Given the description of an element on the screen output the (x, y) to click on. 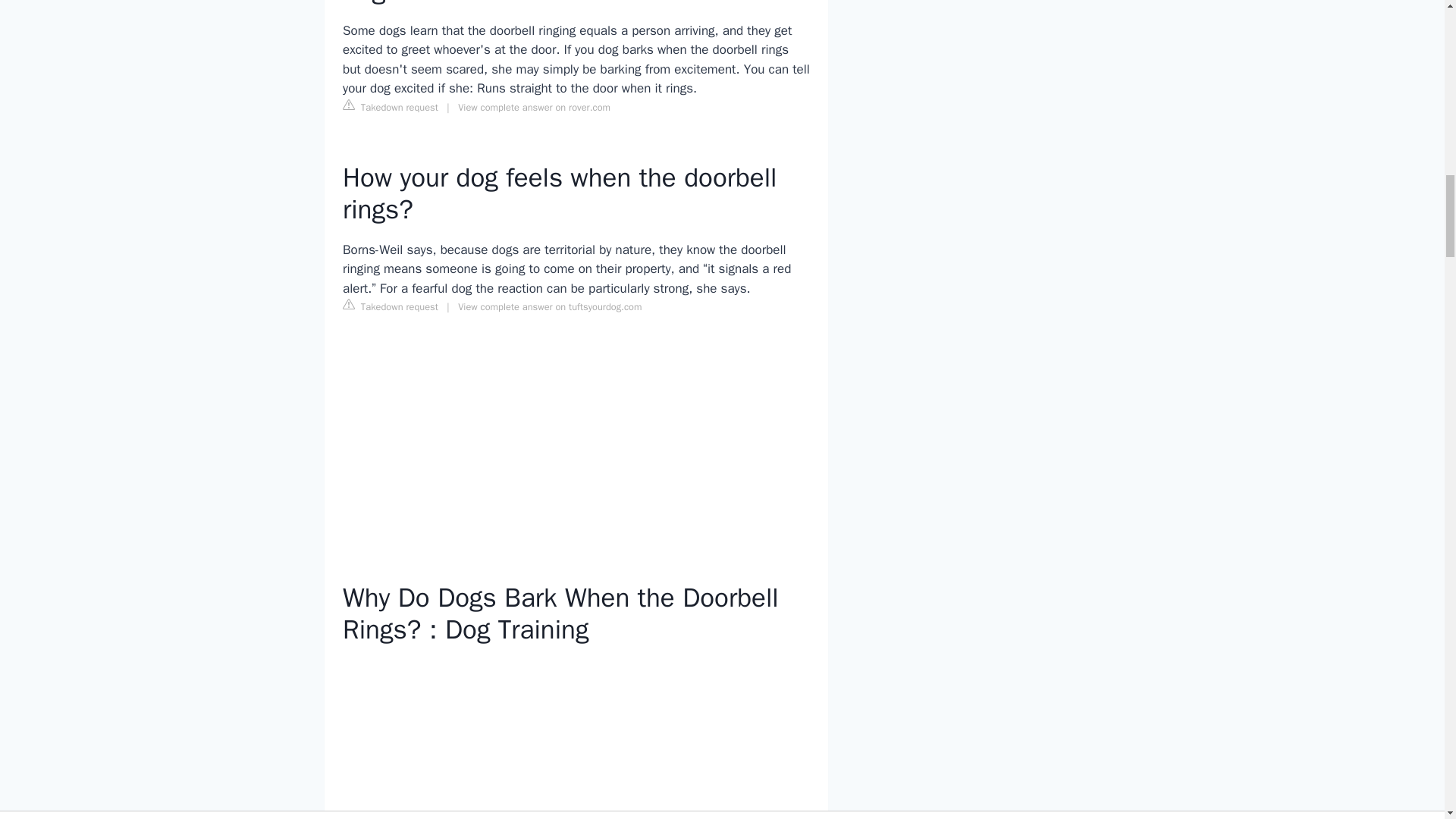
Takedown request (390, 106)
View complete answer on rover.com (534, 107)
View complete answer on tuftsyourdog.com (550, 306)
Why Do Dogs Bark When the Doorbell Rings? : Dog Training  (575, 739)
Takedown request (390, 306)
